Given the description of an element on the screen output the (x, y) to click on. 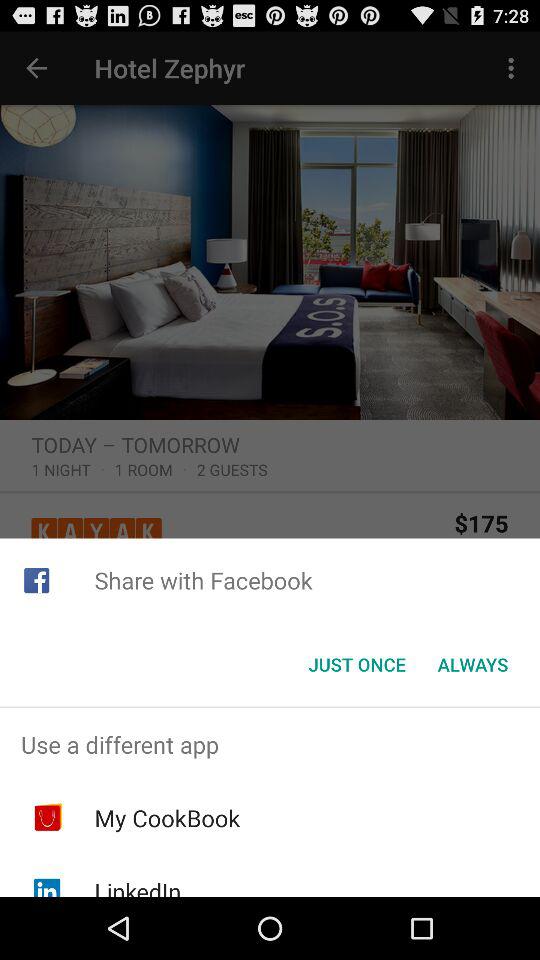
launch the always item (472, 664)
